Given the description of an element on the screen output the (x, y) to click on. 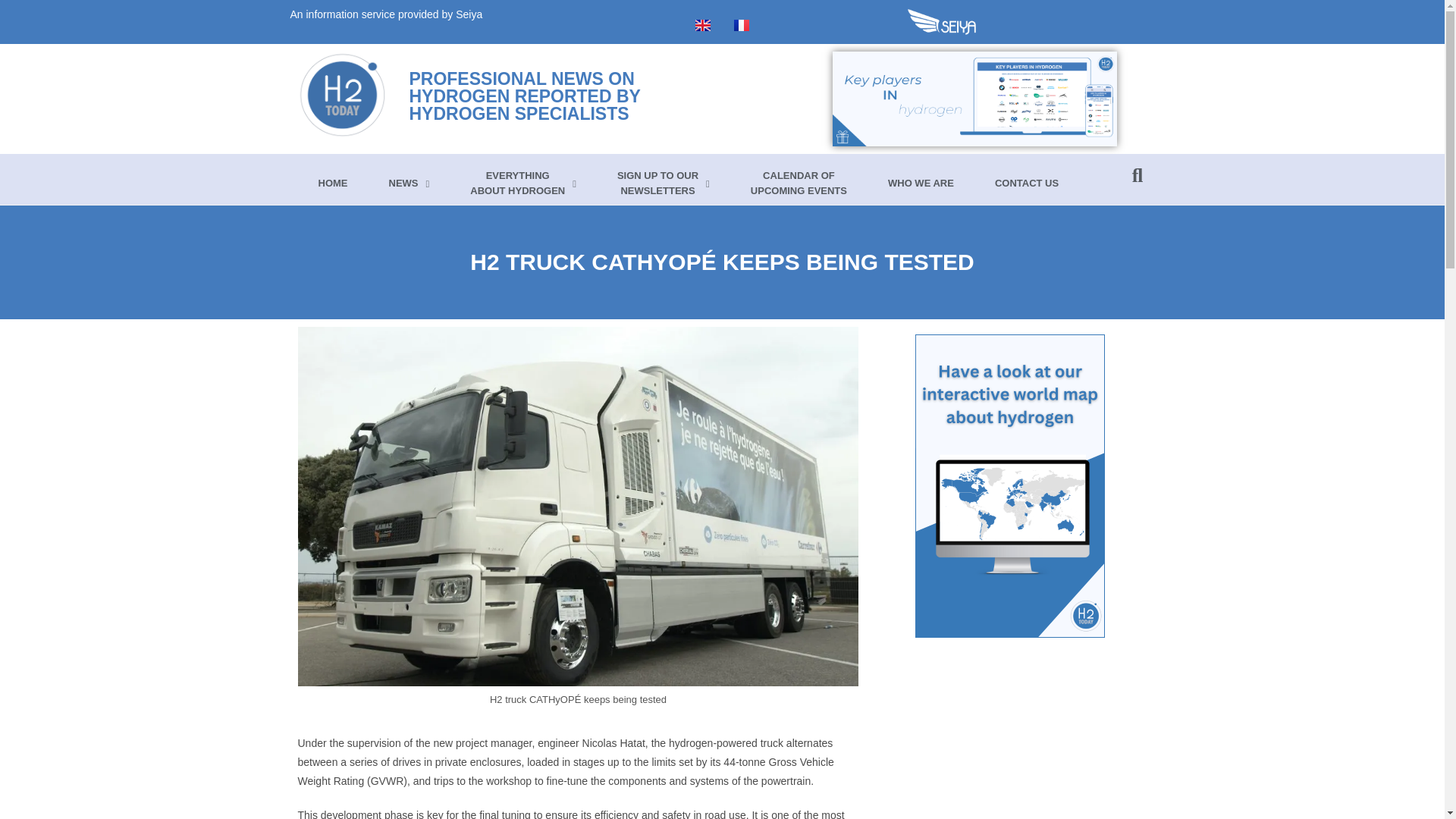
WHO WE ARE (920, 183)
CONTACT US (1026, 183)
HOME (332, 183)
NEWS (408, 183)
logo seiya site (522, 183)
